Given the description of an element on the screen output the (x, y) to click on. 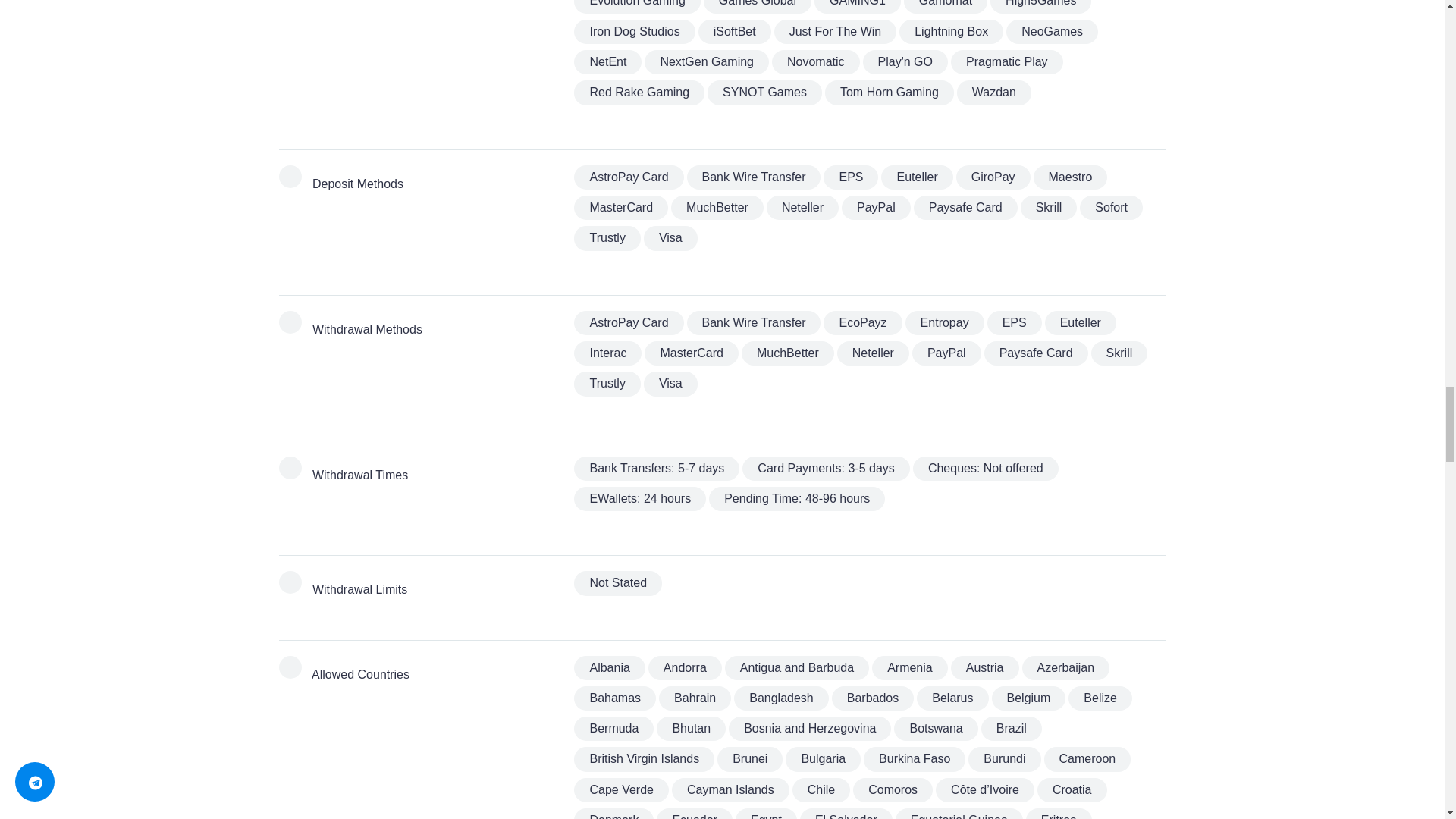
Pragmatic Play (1006, 61)
Just For The Win (835, 31)
Tom Horn Gaming (889, 92)
Gamomat (945, 6)
GAMING1 (857, 6)
NetEnt (607, 61)
Lightning Box (951, 31)
Evolution Gaming (636, 6)
NetEnt (607, 61)
GiroPay (993, 177)
NextGen Gaming (706, 61)
High5Games (1040, 6)
Games Global (756, 6)
NextGen Gaming (706, 61)
NeoGames (1051, 31)
